Given the description of an element on the screen output the (x, y) to click on. 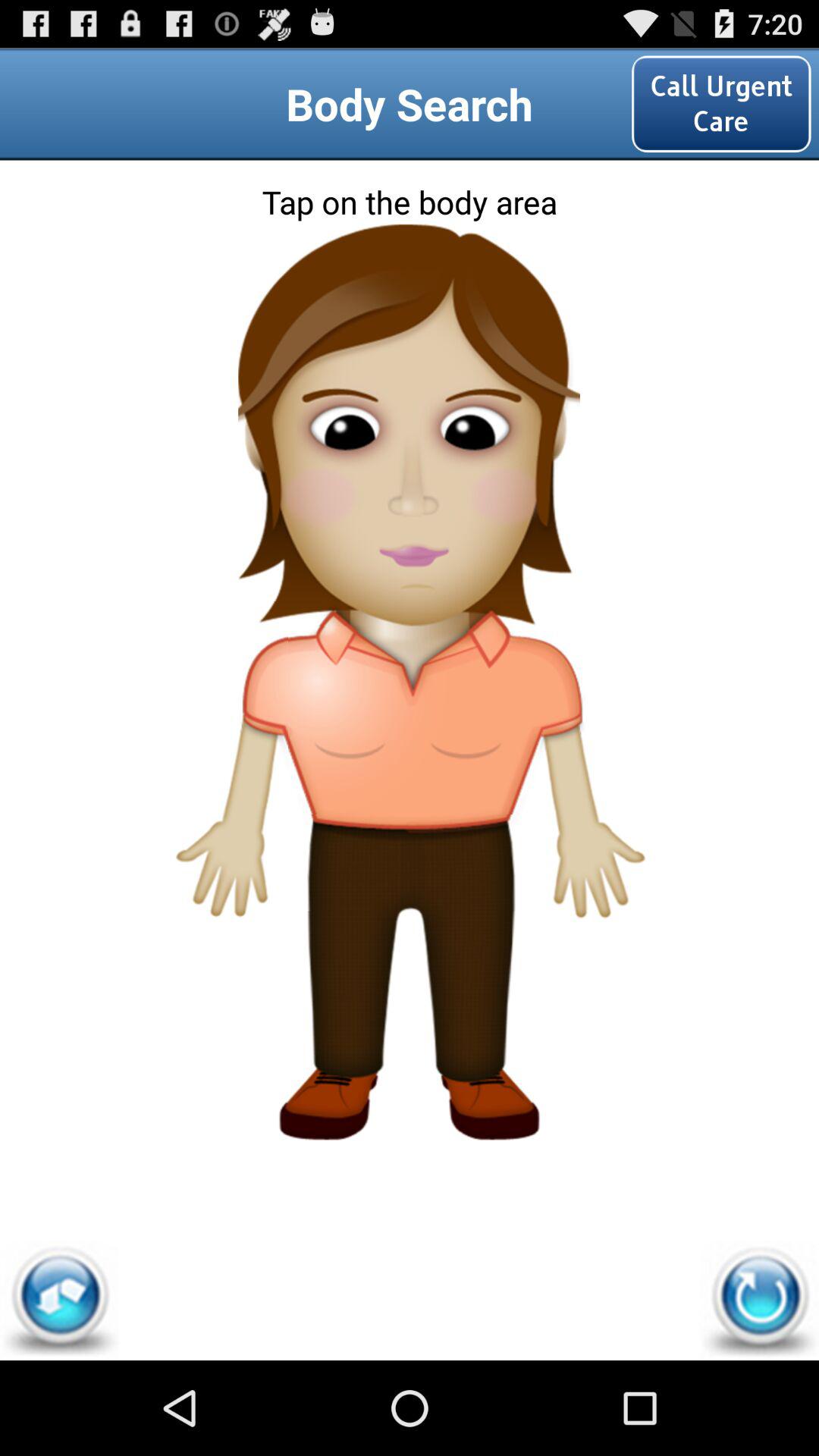
press the item below the tap on the icon (409, 290)
